Given the description of an element on the screen output the (x, y) to click on. 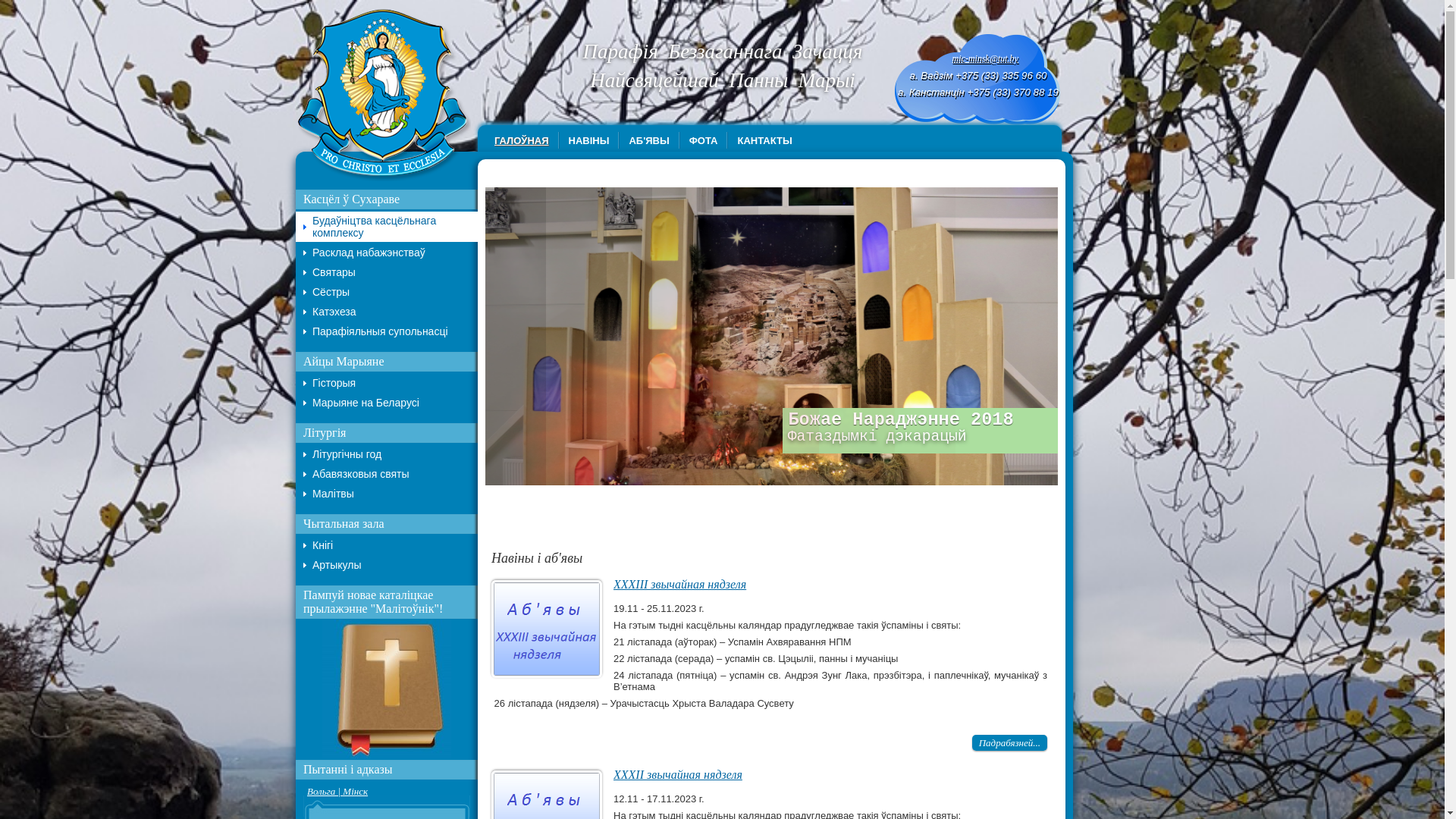
mic-minsk@tut.by Element type: text (985, 58)
